Given the description of an element on the screen output the (x, y) to click on. 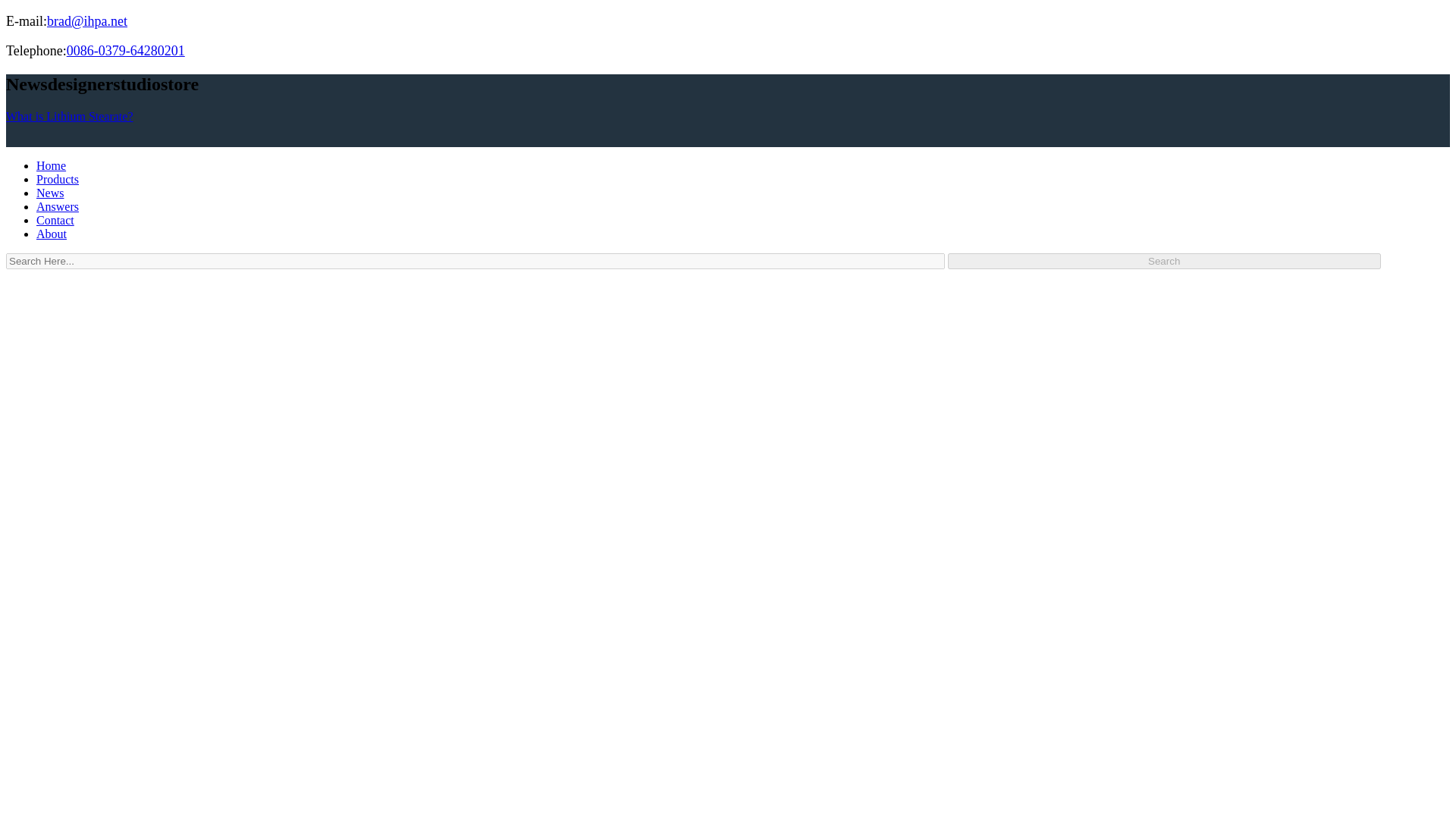
0086-0379-64280201 (125, 50)
Contact (55, 219)
What is Lithium Stearate? (69, 115)
Products (57, 178)
Answers (57, 205)
About (51, 233)
Home (50, 164)
News (50, 192)
